Given the description of an element on the screen output the (x, y) to click on. 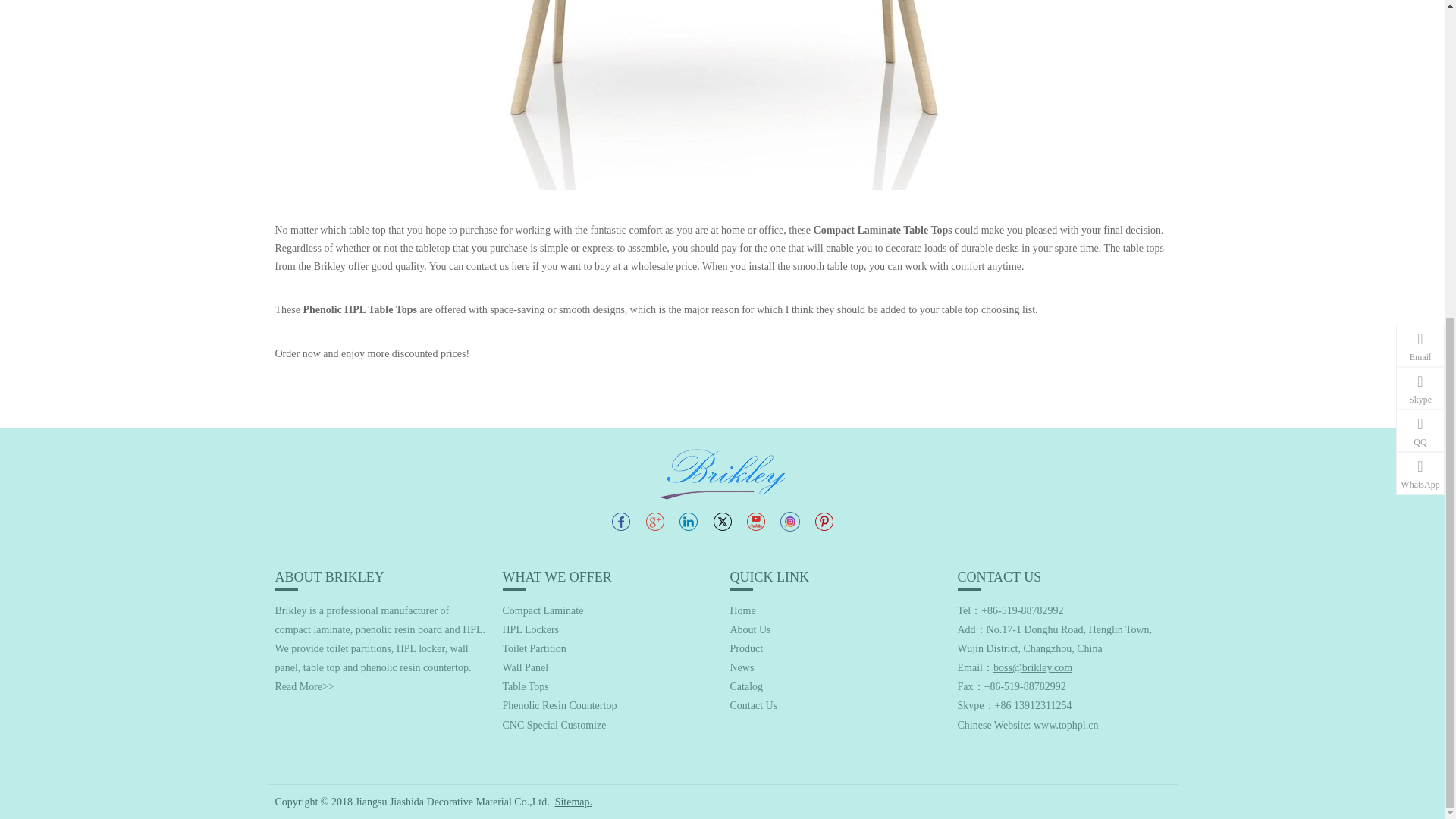
HPL Lockers (530, 629)
Product (745, 648)
Instagram (788, 521)
Wall Panel (525, 667)
CNC Special Customize (553, 725)
Facebook (620, 520)
Home (742, 610)
Twitter (722, 520)
Jiangsu Jiashida Decorative Material Co.,Ltd. (721, 473)
Toilet Partition (534, 648)
